Given the description of an element on the screen output the (x, y) to click on. 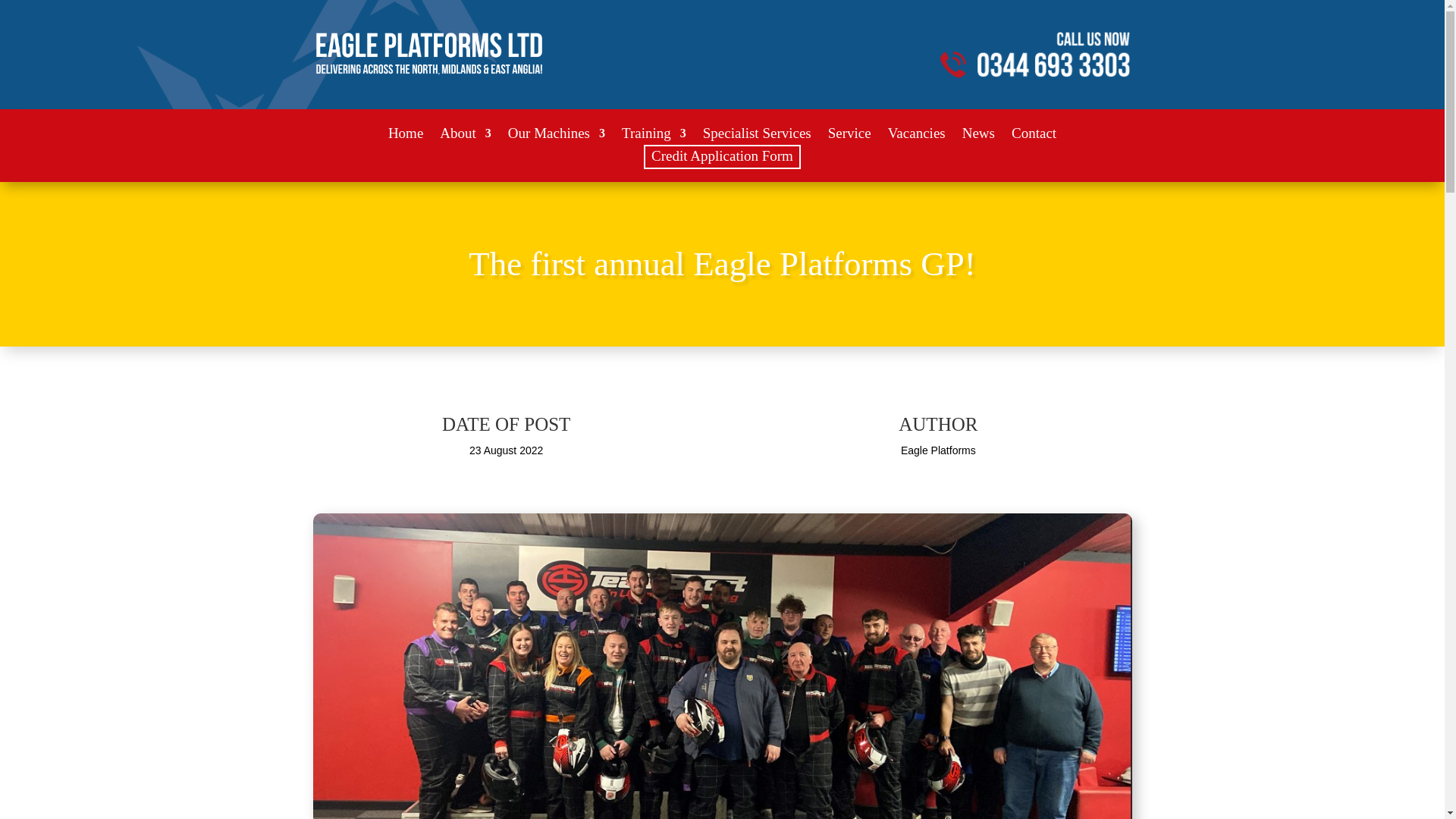
Our Machines (556, 135)
Training (653, 135)
Specialist Services (756, 135)
News (978, 135)
Website Headers Backgrounds-03 (1034, 54)
Contact (1034, 135)
Credit Application Form (721, 156)
Web Elements-40 (428, 53)
Service (849, 135)
